Given the description of an element on the screen output the (x, y) to click on. 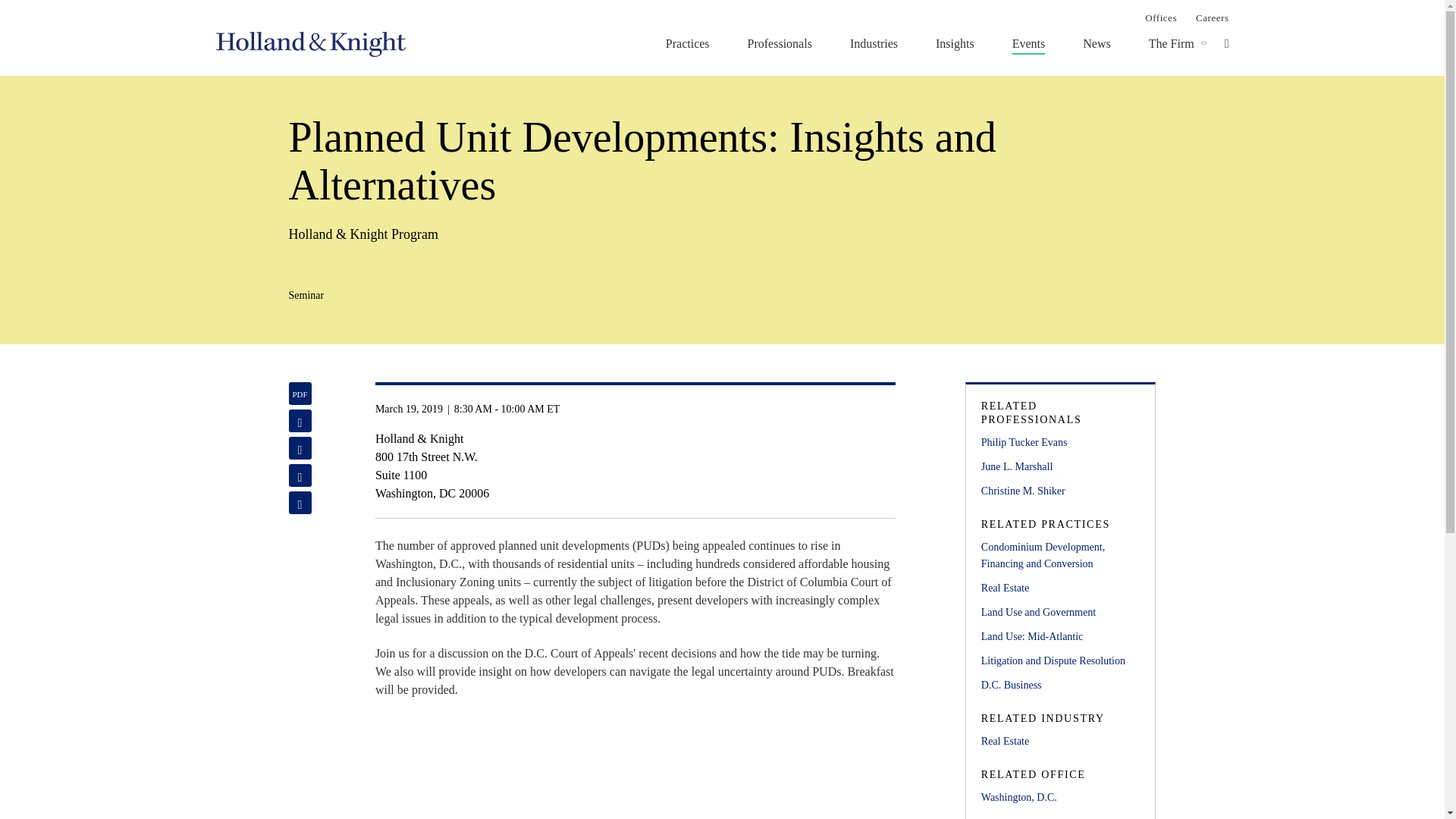
Professionals (780, 42)
Events (1028, 42)
June L. Marshall (1060, 466)
The Firm (1170, 43)
Practices (687, 42)
News (1096, 42)
Careers (1211, 16)
Offices (1160, 16)
Insights (955, 42)
Philip Tucker Evans (1060, 442)
Christine M. Shiker (1060, 491)
Industries (874, 42)
